Given the description of an element on the screen output the (x, y) to click on. 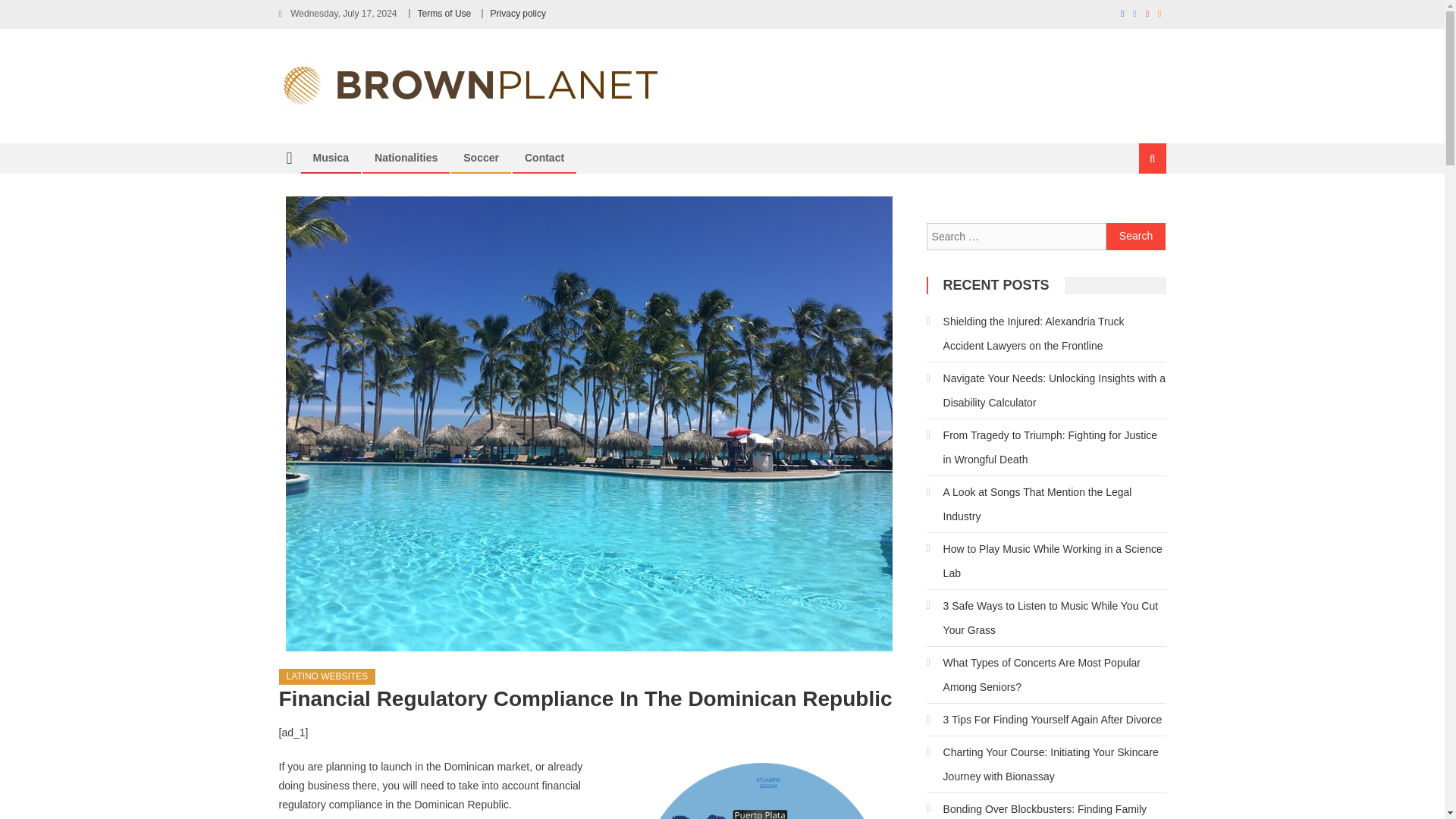
LATINO WEBSITES (327, 677)
Search (1136, 236)
Contact (544, 157)
Search (1133, 208)
Soccer (481, 157)
Privacy policy (518, 13)
Terms of Use (444, 13)
Musica (330, 157)
Search (1136, 236)
Nationalities (405, 157)
